Given the description of an element on the screen output the (x, y) to click on. 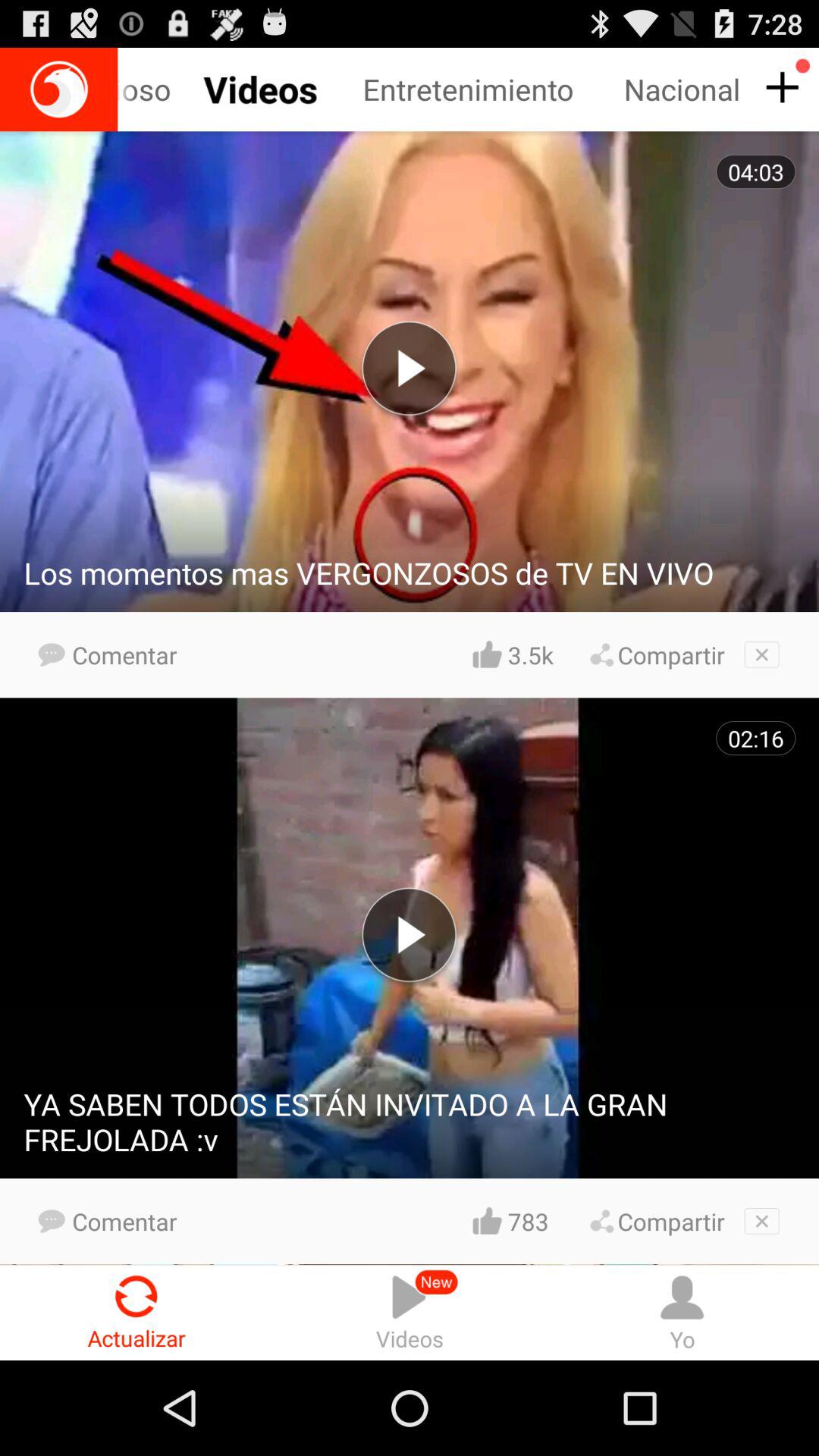
tap the icon to the right of the videos radio button (682, 1312)
